Given the description of an element on the screen output the (x, y) to click on. 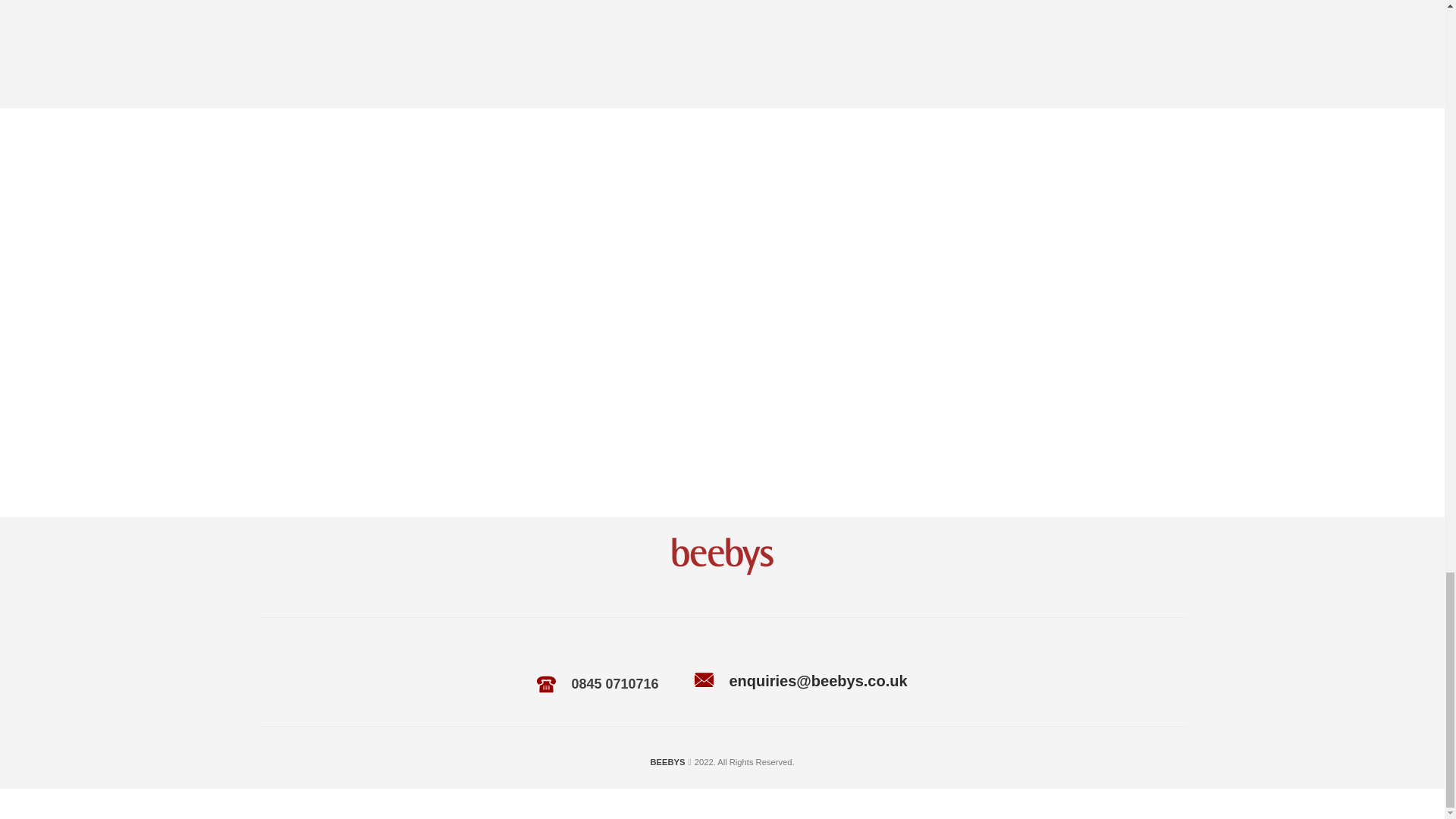
BEEBYS (666, 761)
SUBMIT YOUR MESSAGE (351, 59)
logo (721, 555)
0845 0710716 (614, 683)
